Given the description of an element on the screen output the (x, y) to click on. 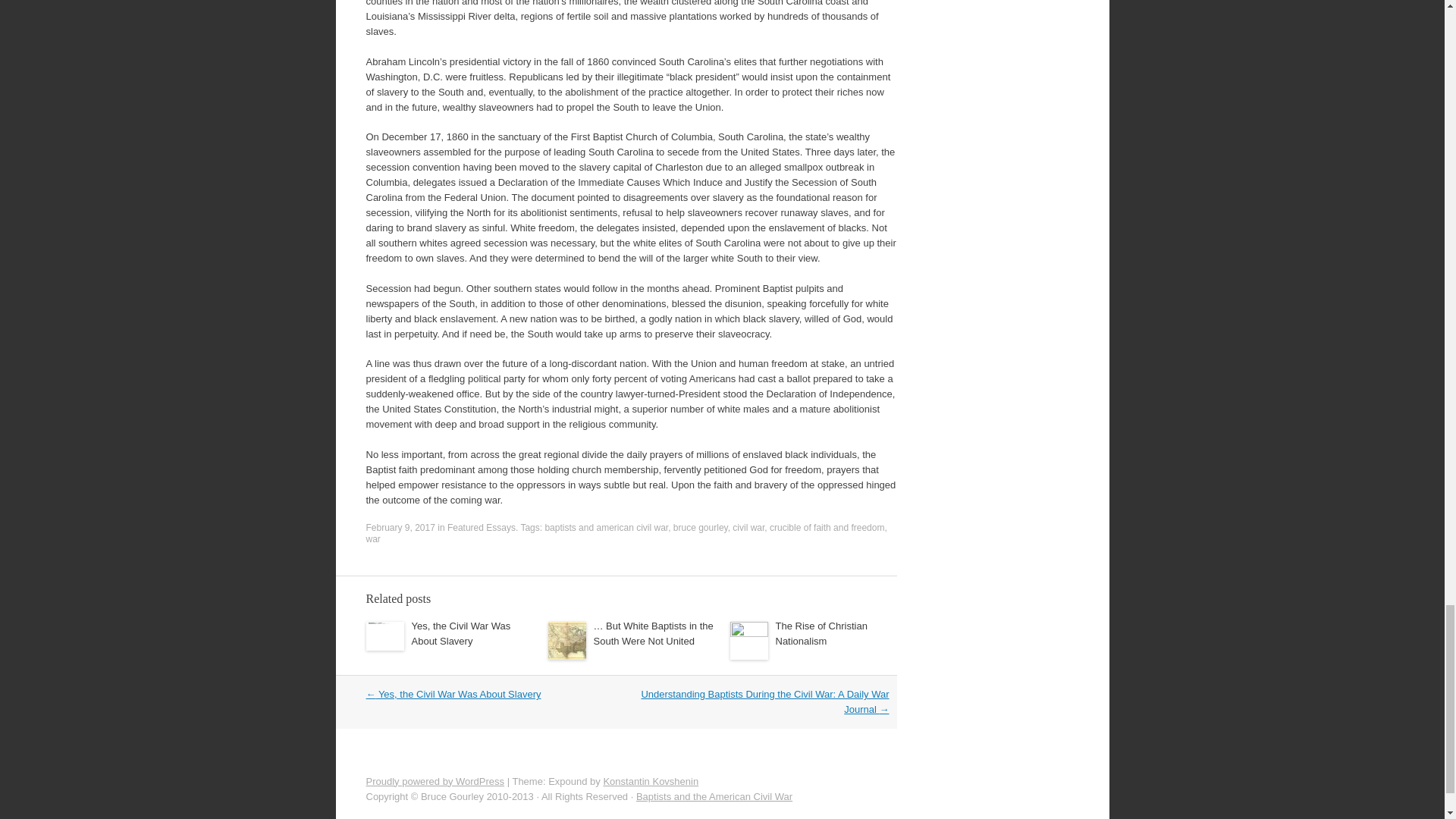
civil war (748, 527)
Permalink to Yes, the Civil War Was About Slavery (460, 633)
crucible of faith and freedom (826, 527)
Yes, the Civil War Was About Slavery (460, 633)
bruce gourley (700, 527)
baptists and american civil war (606, 527)
Featured Essays (480, 527)
war (372, 538)
February 9, 2017 (399, 527)
Permalink to The Rise of Christian Nationalism (820, 633)
